Given the description of an element on the screen output the (x, y) to click on. 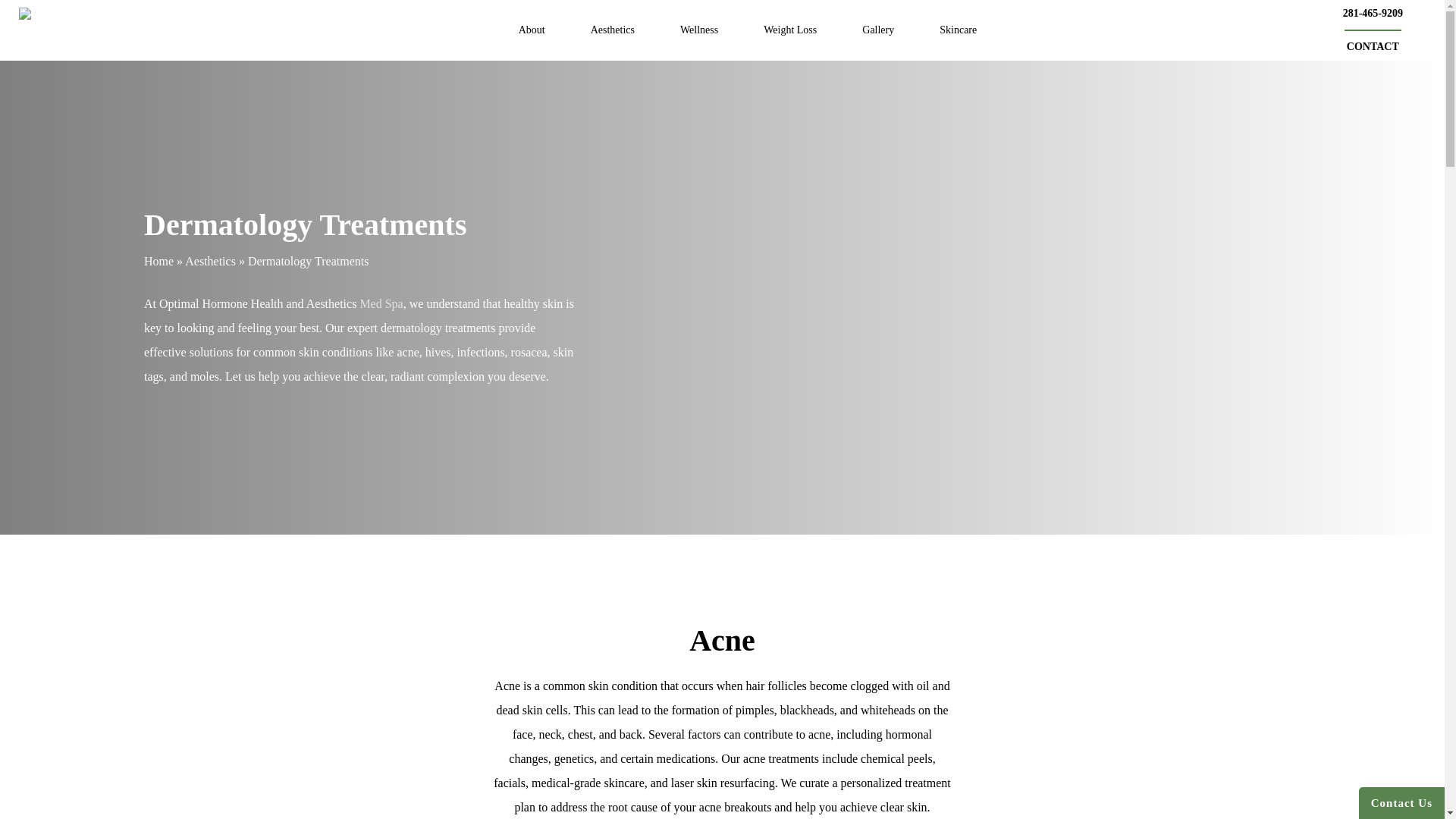
Aesthetics (612, 30)
About (531, 30)
